Given the description of an element on the screen output the (x, y) to click on. 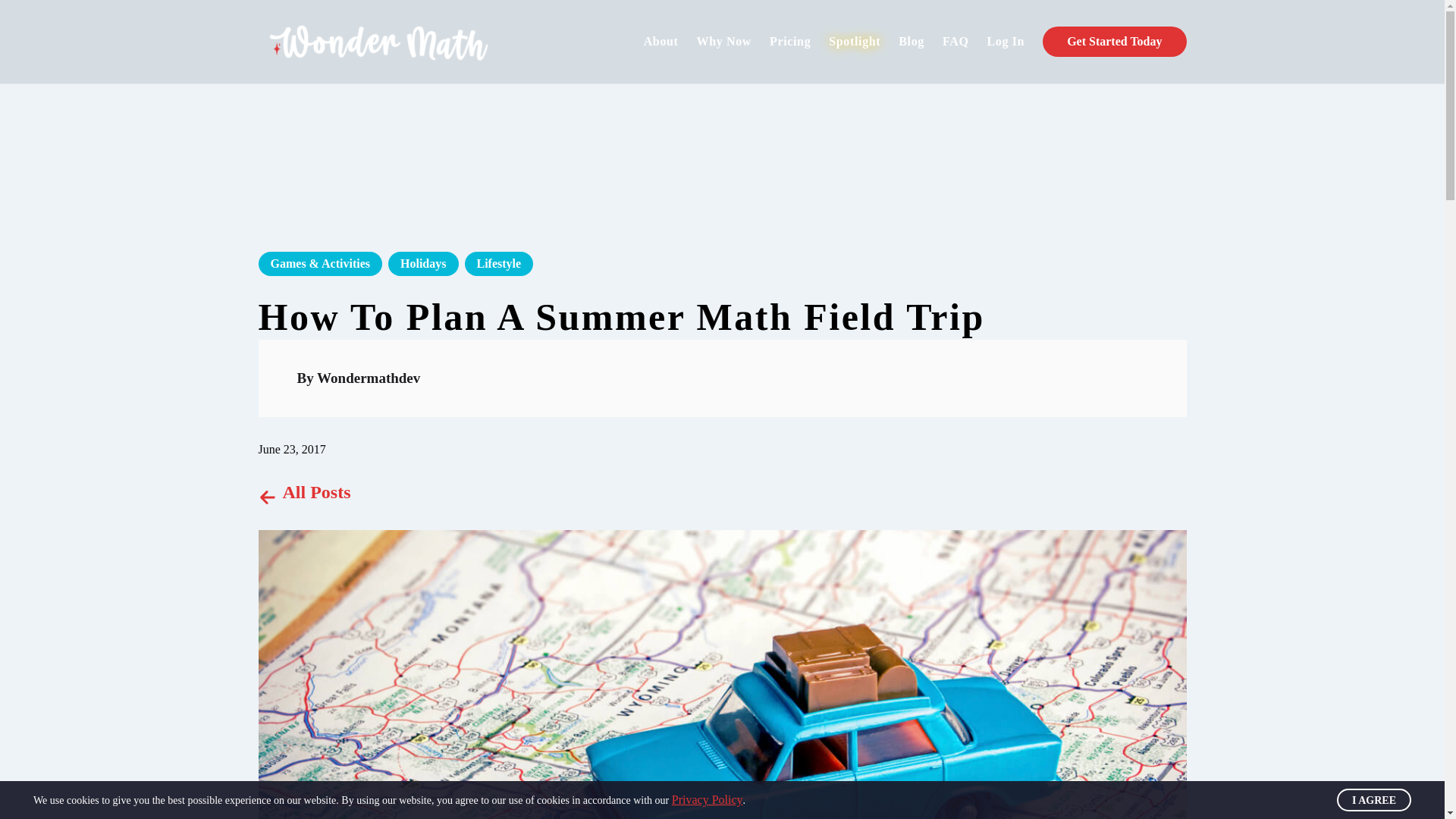
View all posts in Holidays (423, 263)
Log In (1006, 41)
Holidays (423, 263)
View all posts in Lifestyle (498, 263)
Why Now (724, 41)
All Posts (303, 492)
Pricing (790, 41)
Lifestyle (498, 263)
About (660, 41)
Get Started Today (1114, 41)
Spotlight (854, 41)
